Given the description of an element on the screen output the (x, y) to click on. 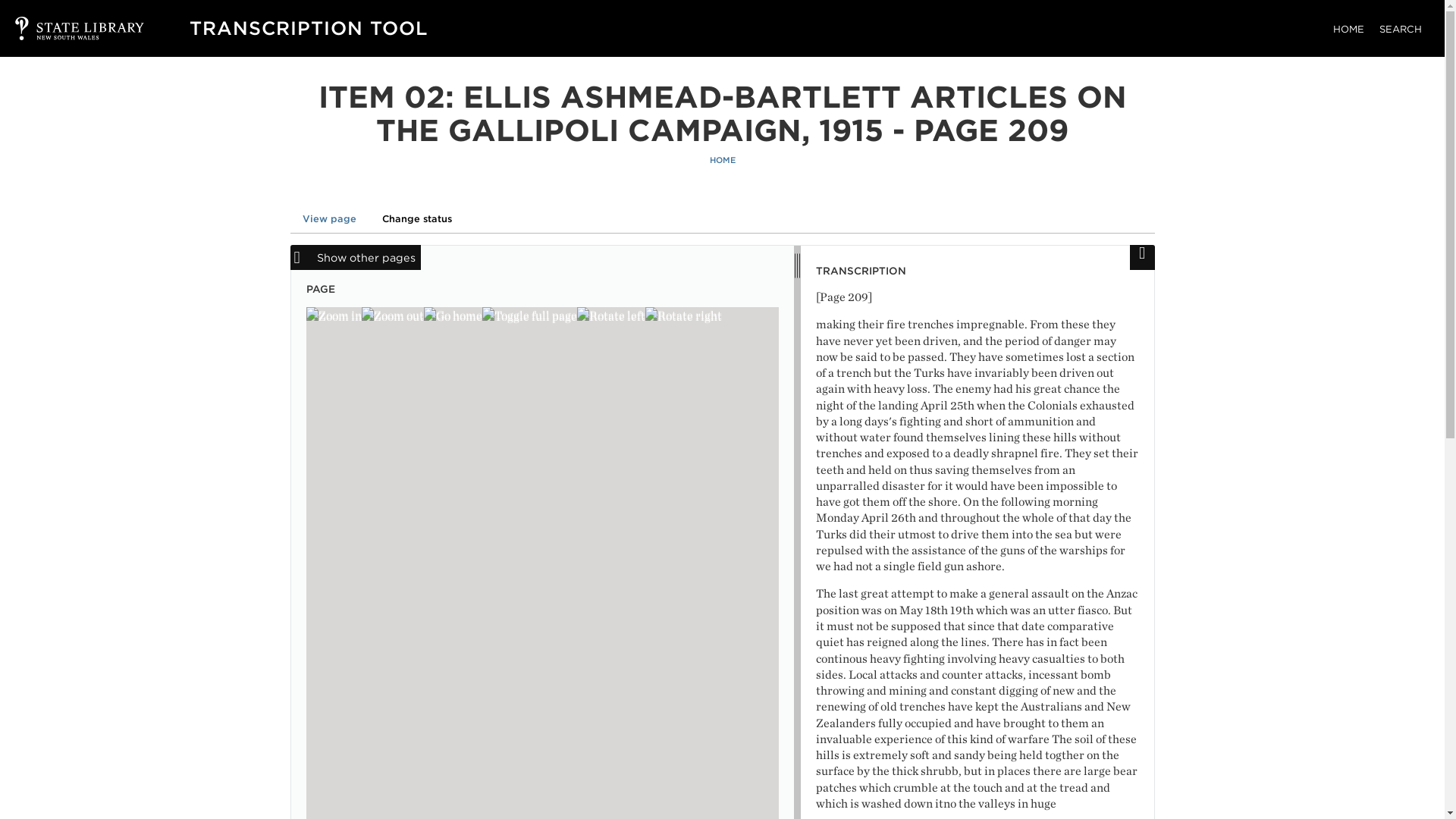
Home (308, 27)
Go home (452, 315)
Toggle full page (528, 315)
HOME (1348, 29)
Zoom in (333, 315)
View page (328, 218)
State Library of NSW (64, 28)
SEARCH (1400, 29)
Zoom out (392, 315)
Rotate left (610, 315)
HOME (722, 160)
Rotate right (682, 315)
TRANSCRIPTION TOOL (308, 27)
Change status (416, 218)
